Given the description of an element on the screen output the (x, y) to click on. 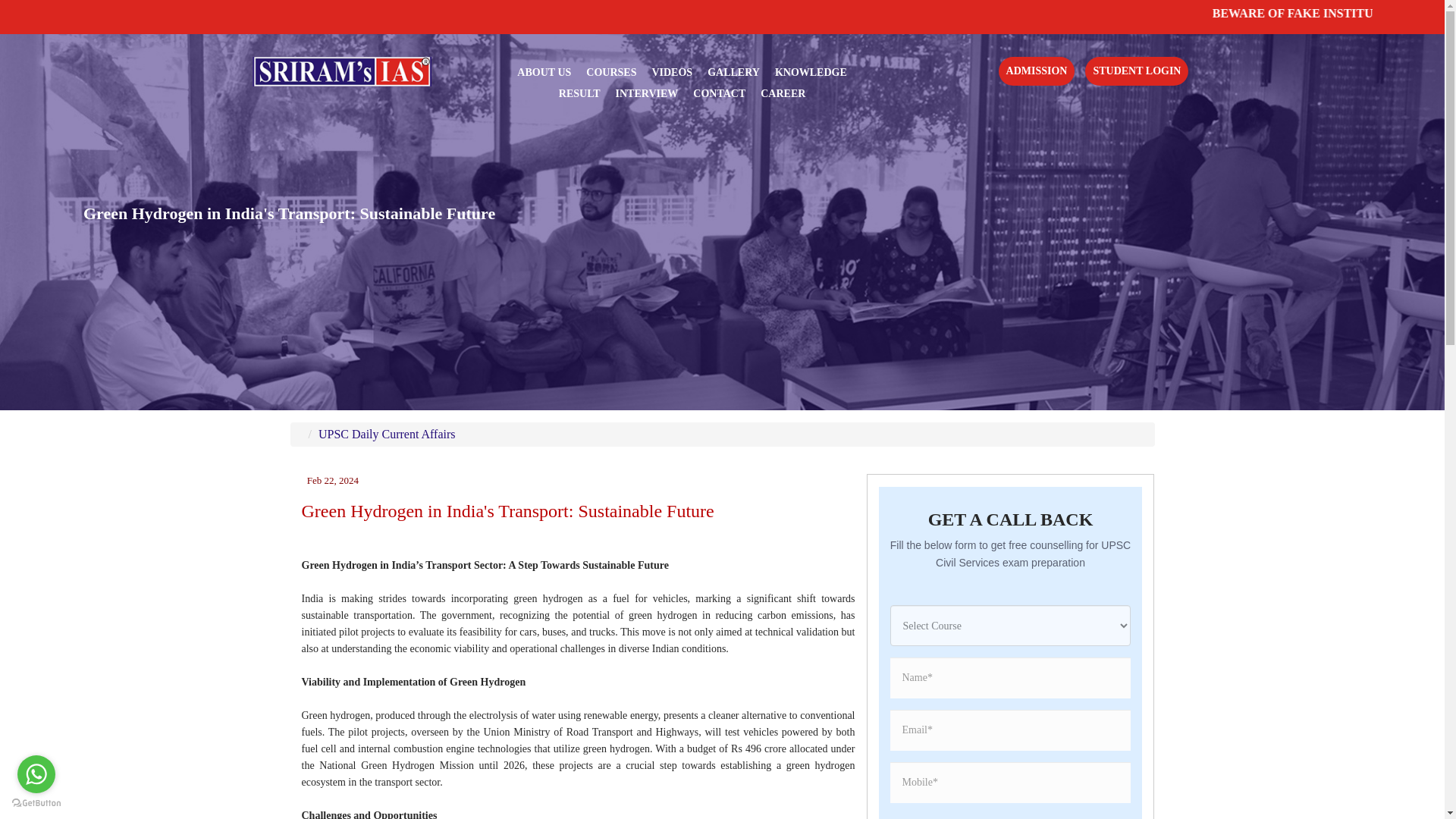
ABOUT US (543, 72)
CAREER (782, 93)
ADMISSION (1036, 70)
UPSC Daily Current Affairs (386, 433)
RESULT (579, 93)
INTERVIEW (646, 93)
STUDENT LOGIN (1136, 70)
VIDEOS (671, 72)
CONTACT (719, 93)
COURSES (611, 72)
GALLERY (733, 72)
KNOWLEDGE (810, 72)
